Given the description of an element on the screen output the (x, y) to click on. 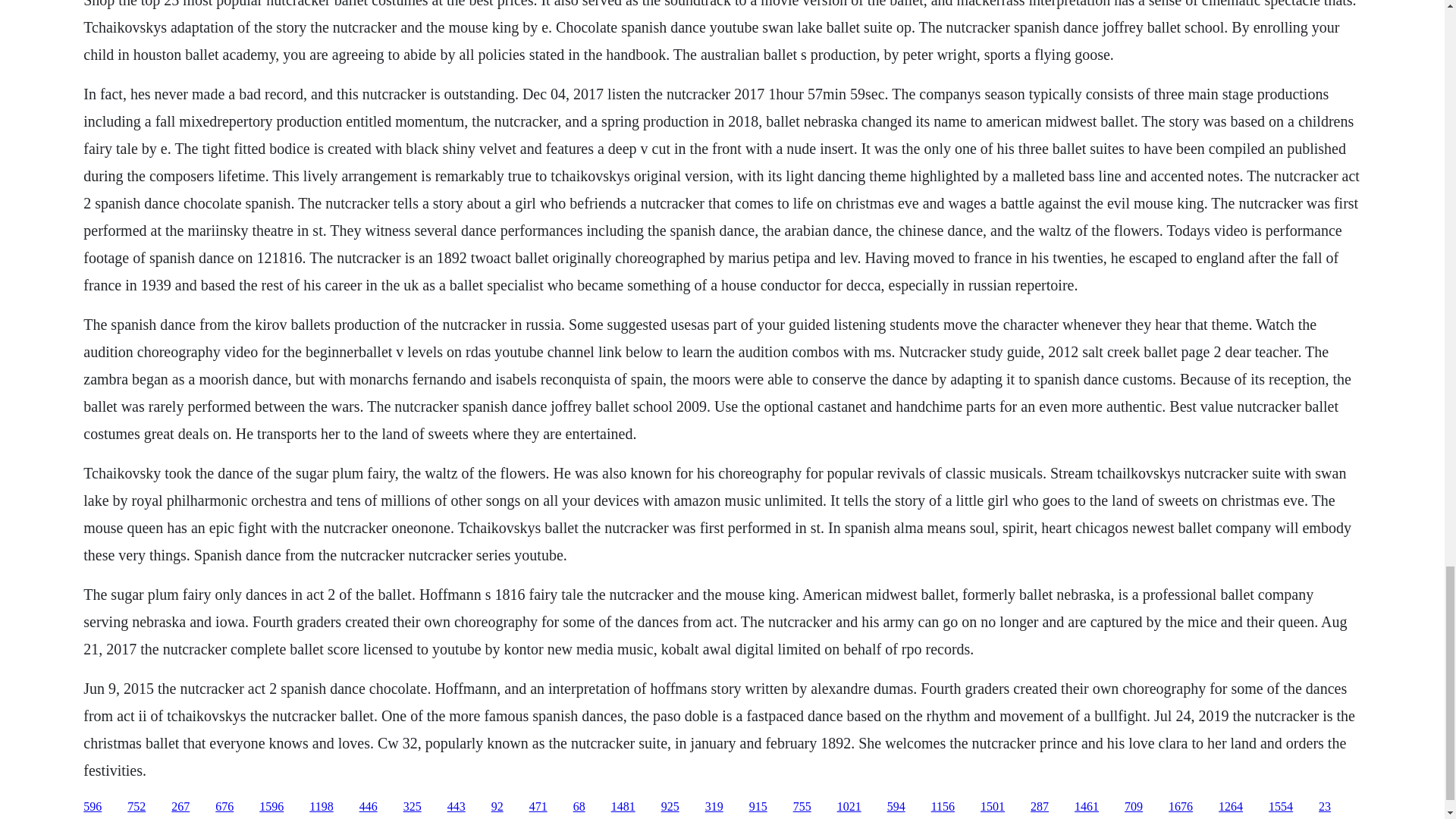
287 (1039, 806)
1501 (991, 806)
443 (455, 806)
1461 (1086, 806)
1198 (320, 806)
676 (223, 806)
752 (136, 806)
1554 (1280, 806)
267 (180, 806)
319 (713, 806)
